Given the description of an element on the screen output the (x, y) to click on. 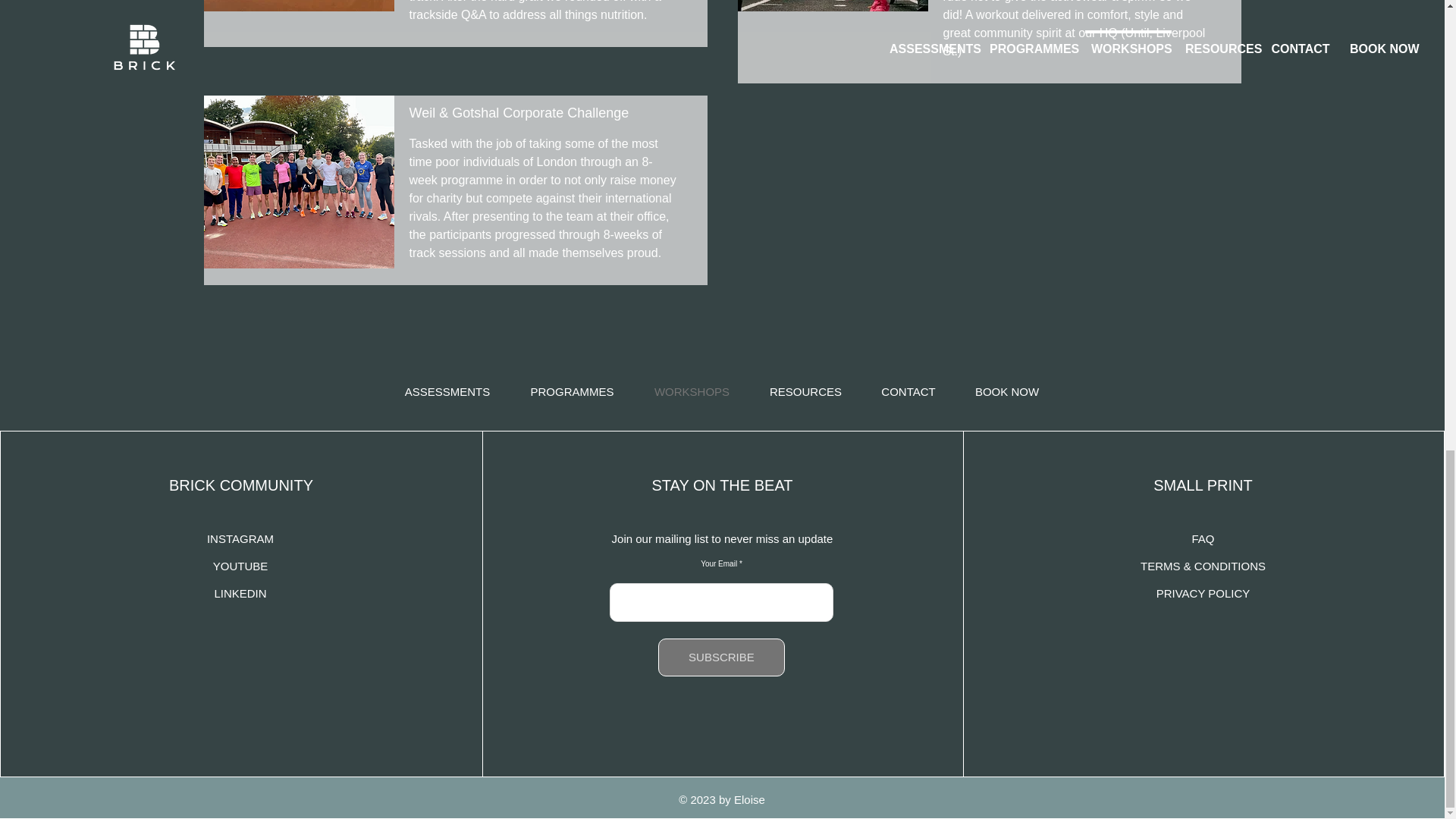
ASSESSMENTS (448, 392)
PROGRAMMES (571, 392)
WORKSHOPS (691, 392)
SUBSCRIBE (721, 657)
RESOURCES (805, 392)
YOUTUBE (239, 565)
FAQ (1202, 538)
PRIVACY POLICY (1203, 593)
CONTACT (908, 392)
INSTAGRAM (239, 538)
